Given the description of an element on the screen output the (x, y) to click on. 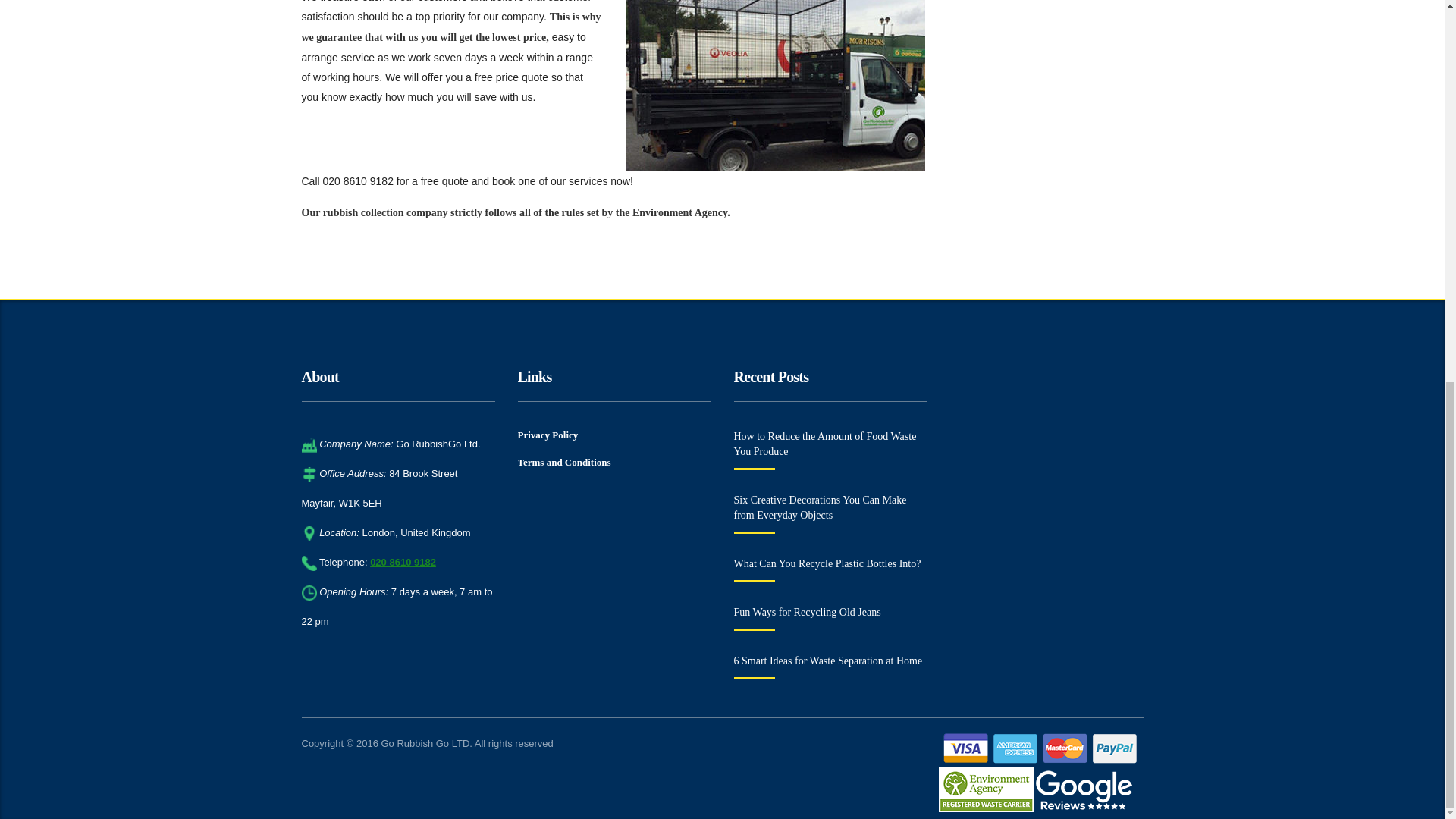
go-rubbish-go-rubbish-removal-services (775, 85)
